Given the description of an element on the screen output the (x, y) to click on. 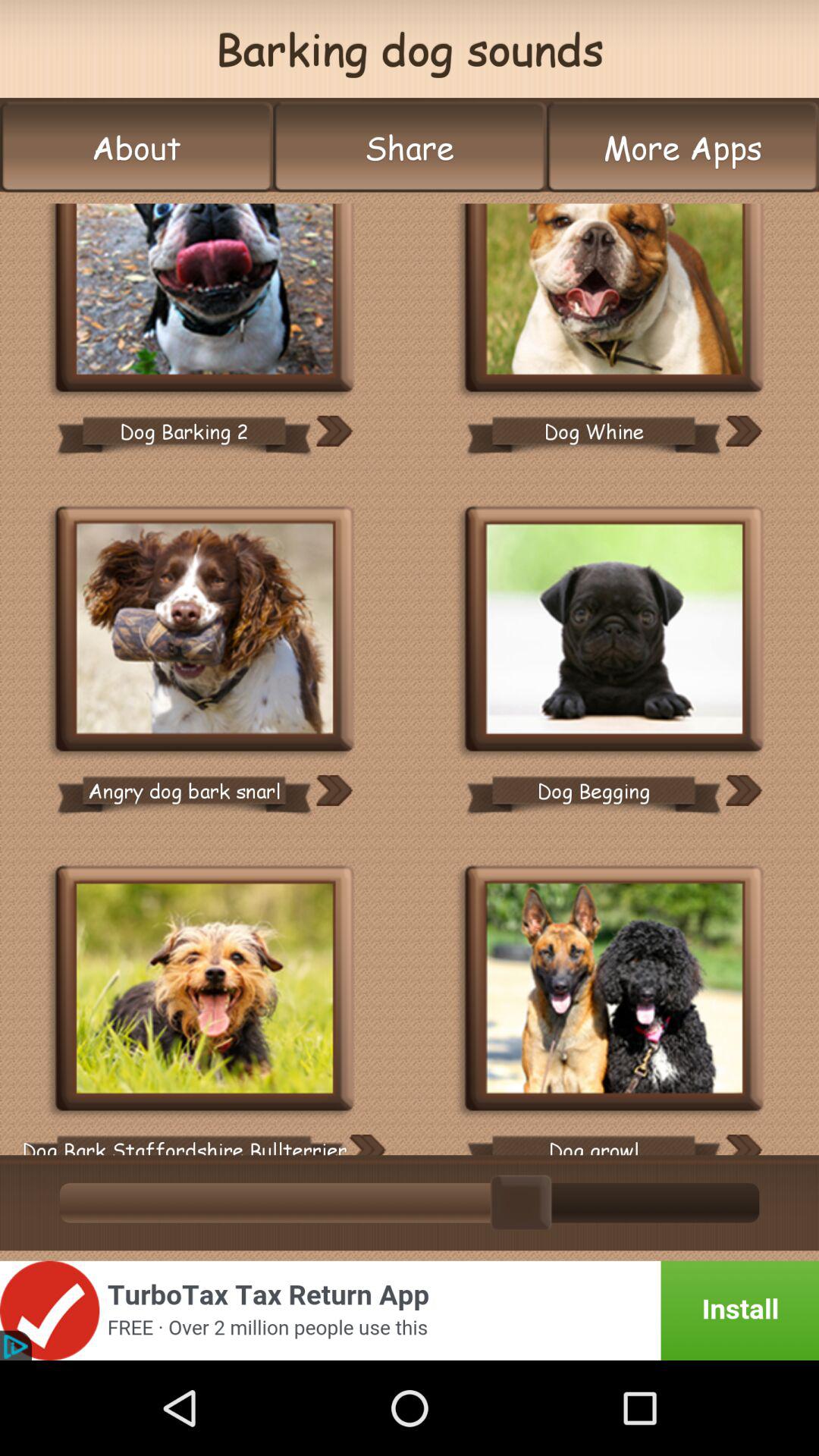
listen to soundwave (743, 1144)
